Given the description of an element on the screen output the (x, y) to click on. 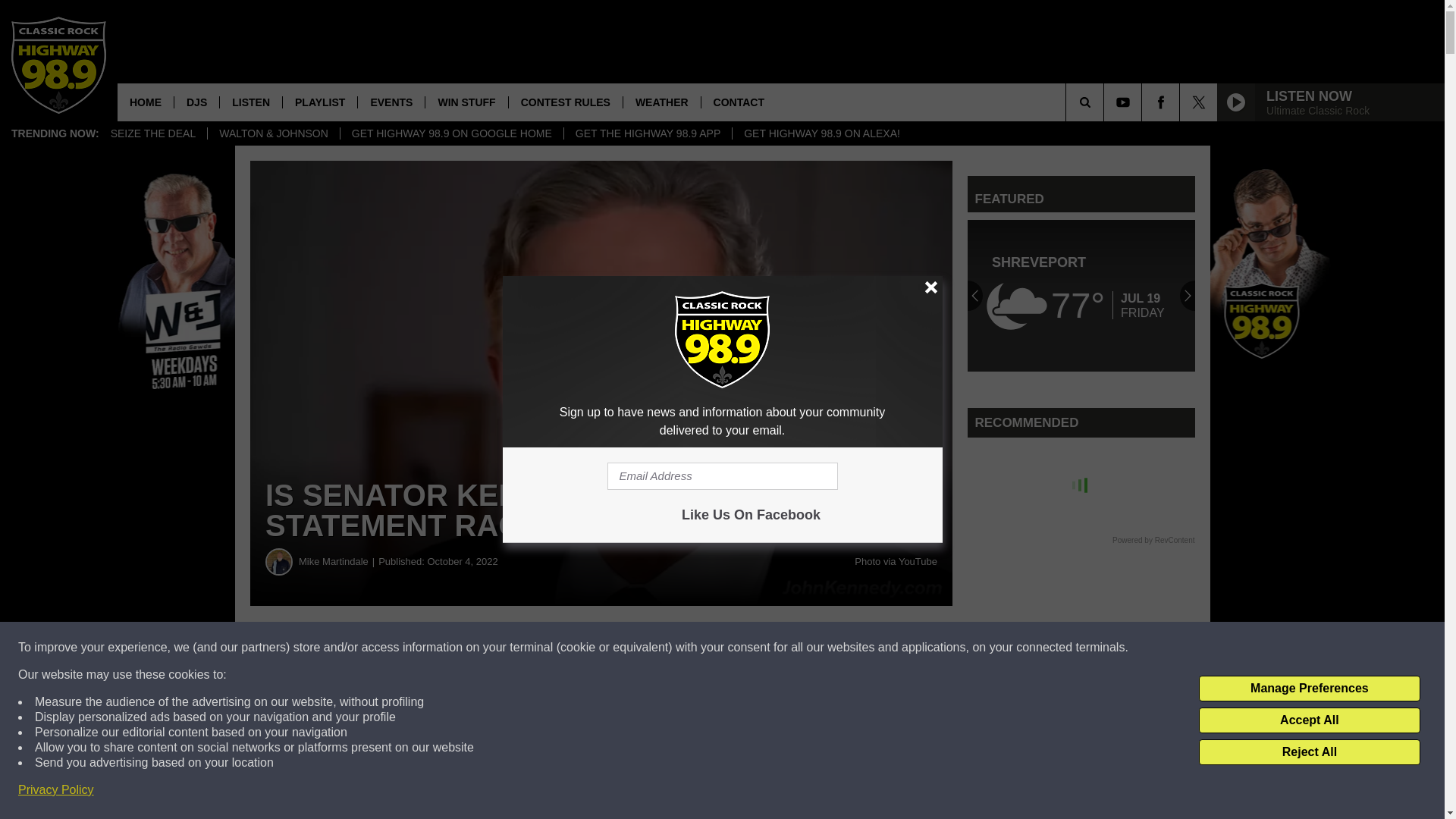
Share on Facebook (460, 647)
SEARCH (1106, 102)
LISTEN (250, 102)
GET HIGHWAY 98.9 ON GOOGLE HOME (451, 133)
WIN STUFF (465, 102)
GET HIGHWAY 98.9 ON ALEXA! (821, 133)
Privacy Policy (55, 789)
Manage Preferences (1309, 688)
HOME (145, 102)
GET THE HIGHWAY 98.9 APP (647, 133)
CONTEST RULES (565, 102)
EVENTS (390, 102)
DJS (196, 102)
Email Address (722, 475)
Share on Twitter (741, 647)
